Given the description of an element on the screen output the (x, y) to click on. 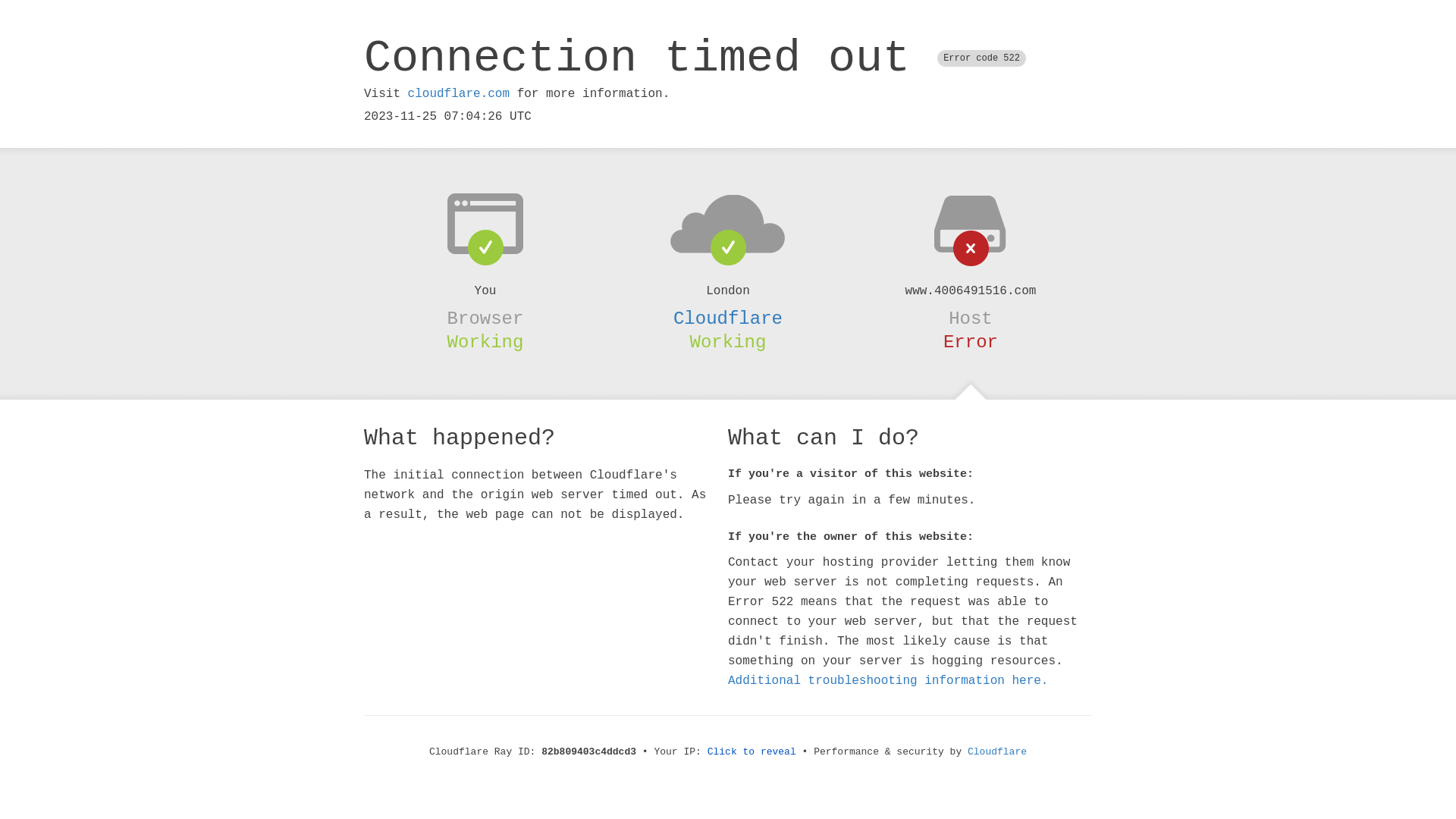
cloudflare.com Element type: text (458, 93)
Cloudflare Element type: text (727, 318)
Cloudflare Element type: text (996, 751)
Additional troubleshooting information here. Element type: text (888, 680)
Click to reveal Element type: text (751, 751)
